Given the description of an element on the screen output the (x, y) to click on. 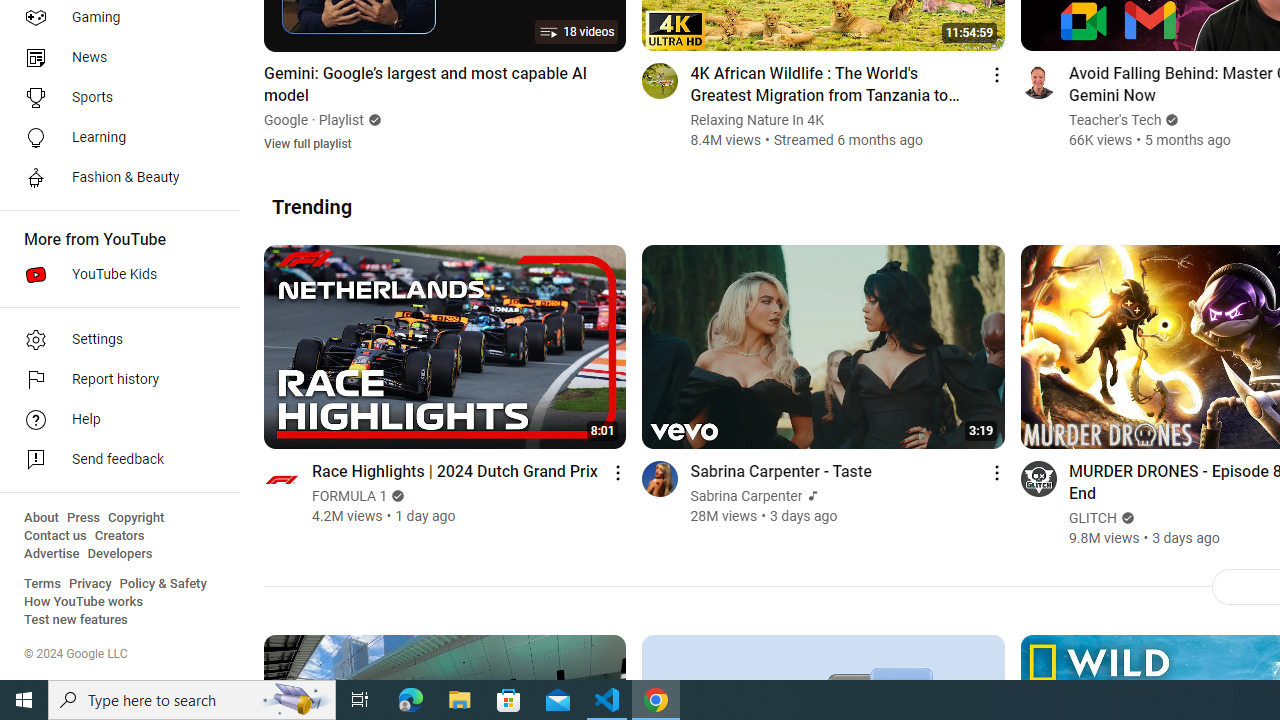
Playlist (341, 120)
Copyright (136, 518)
Advertise (51, 554)
Test new features (76, 620)
Contact us (55, 536)
News (113, 57)
Creators (118, 536)
Teacher's Tech (1115, 120)
Sabrina Carpenter (746, 496)
Verified (1125, 518)
Policy & Safety (163, 584)
